Given the description of an element on the screen output the (x, y) to click on. 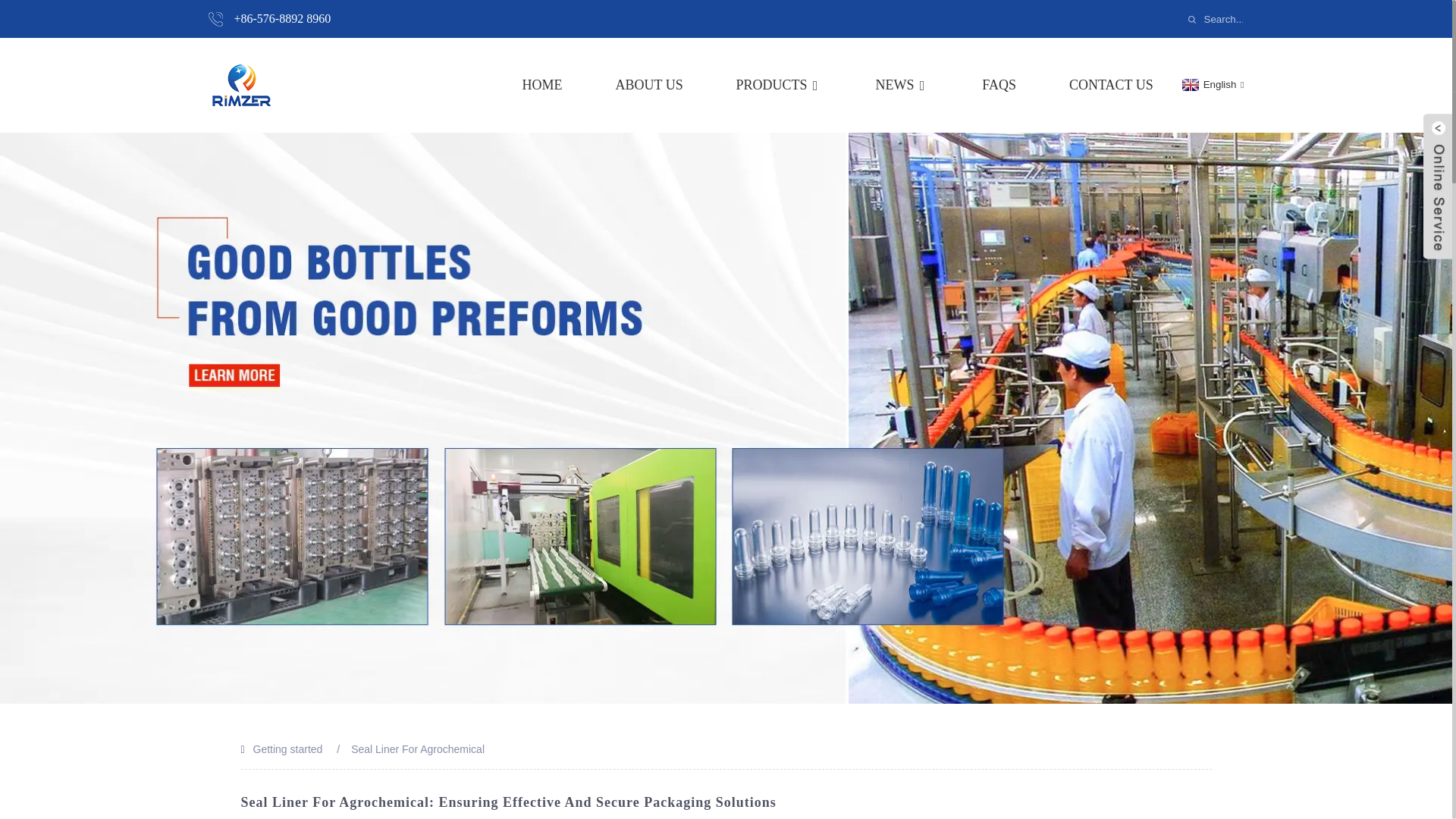
PRODUCTS (779, 84)
NEWS (901, 84)
Getting started (288, 748)
HOME (542, 84)
ABOUT US (648, 84)
FAQS (998, 84)
English (1210, 84)
CONTACT US (1110, 84)
Seal Liner For Agrochemical (417, 748)
